Given the description of an element on the screen output the (x, y) to click on. 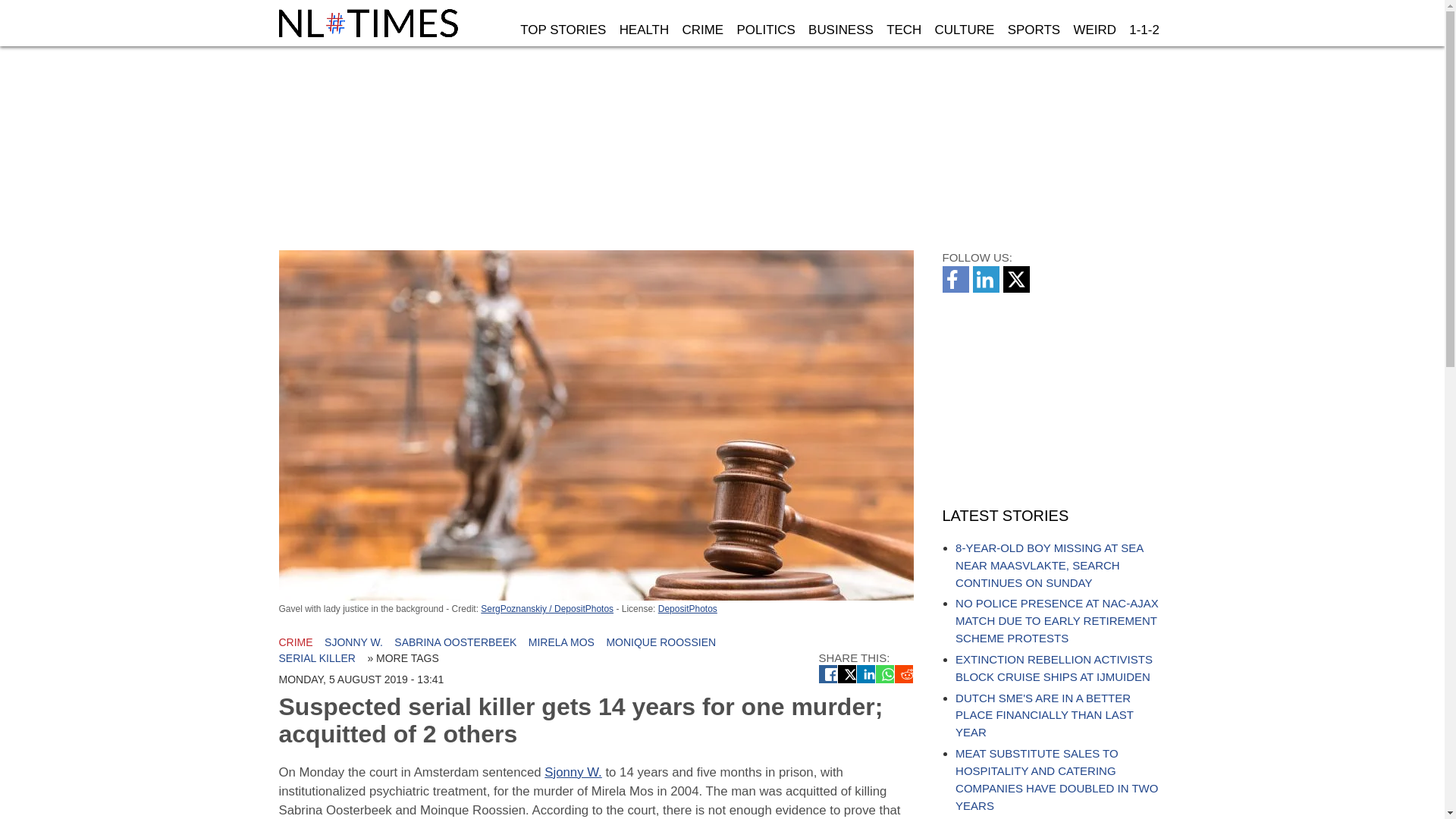
BUSINESS (840, 30)
Home (370, 22)
TECH (903, 30)
CULTURE (964, 30)
SERIAL KILLER (317, 657)
TOP STORIES (562, 30)
SJONNY W. (353, 642)
HEALTH (643, 30)
SABRINA OOSTERBEEK (455, 642)
REDDIT (903, 674)
